Given the description of an element on the screen output the (x, y) to click on. 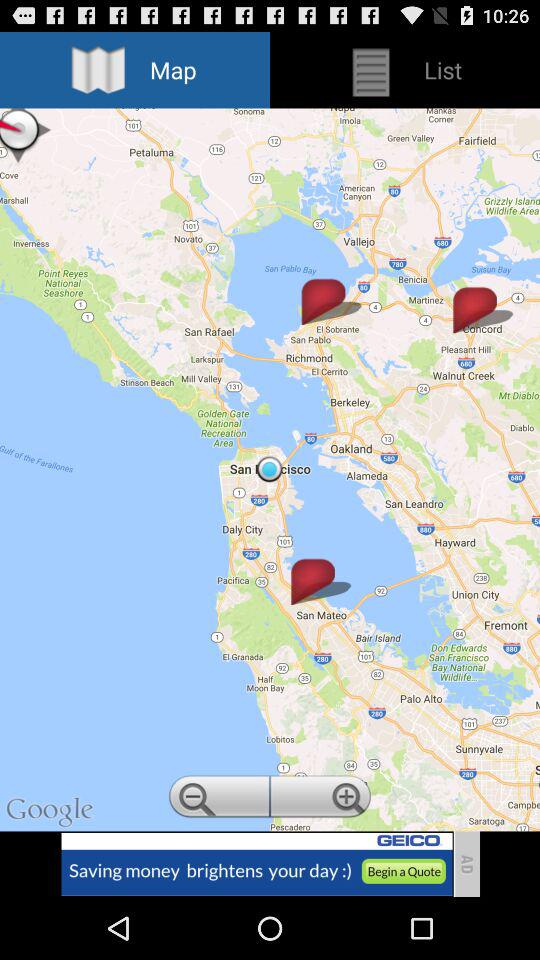
zoom (217, 799)
